Given the description of an element on the screen output the (x, y) to click on. 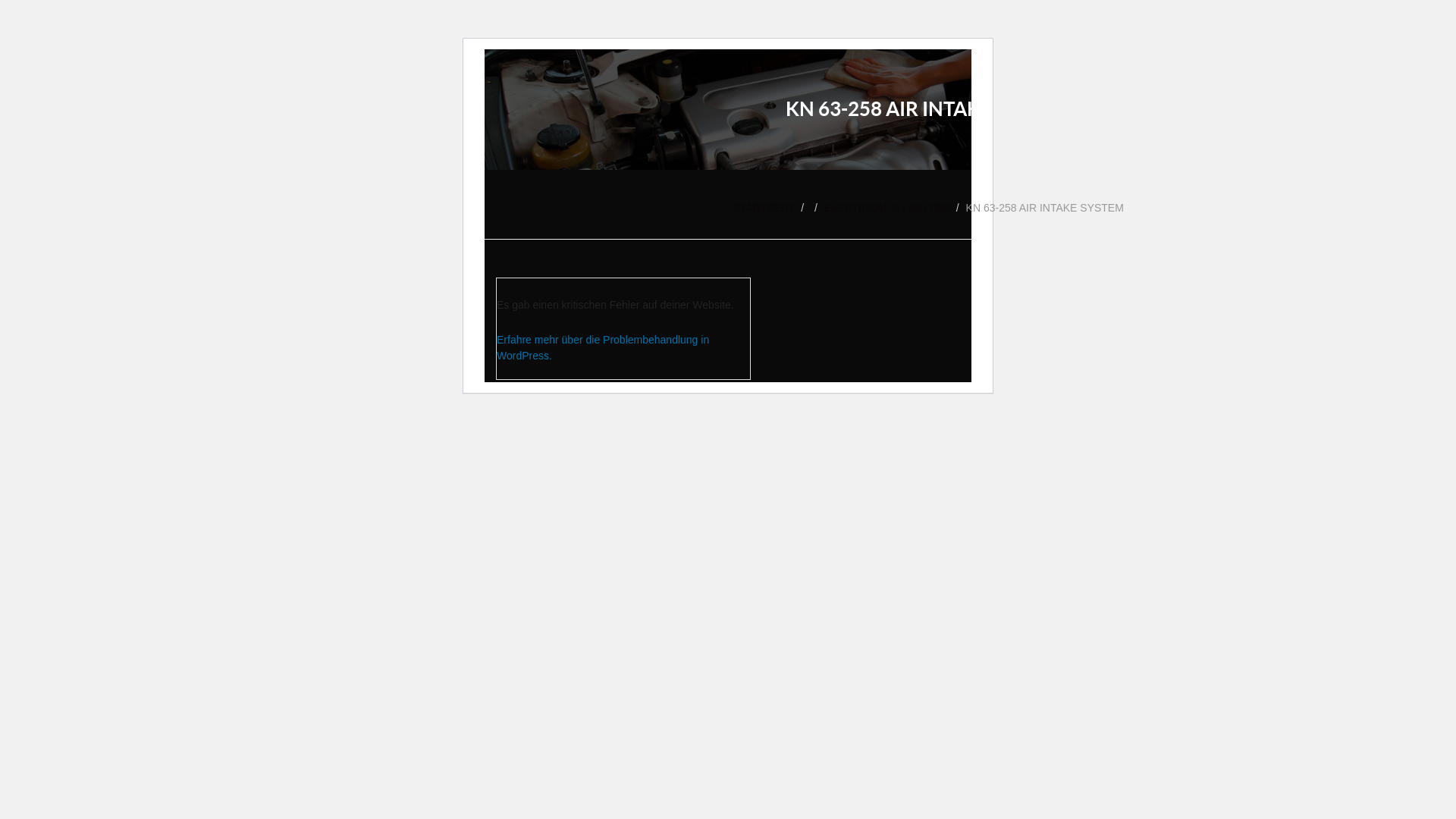
STARTSEITE Element type: text (764, 207)
ELECTRICAL & LIGHTING Element type: text (888, 207)
